Given the description of an element on the screen output the (x, y) to click on. 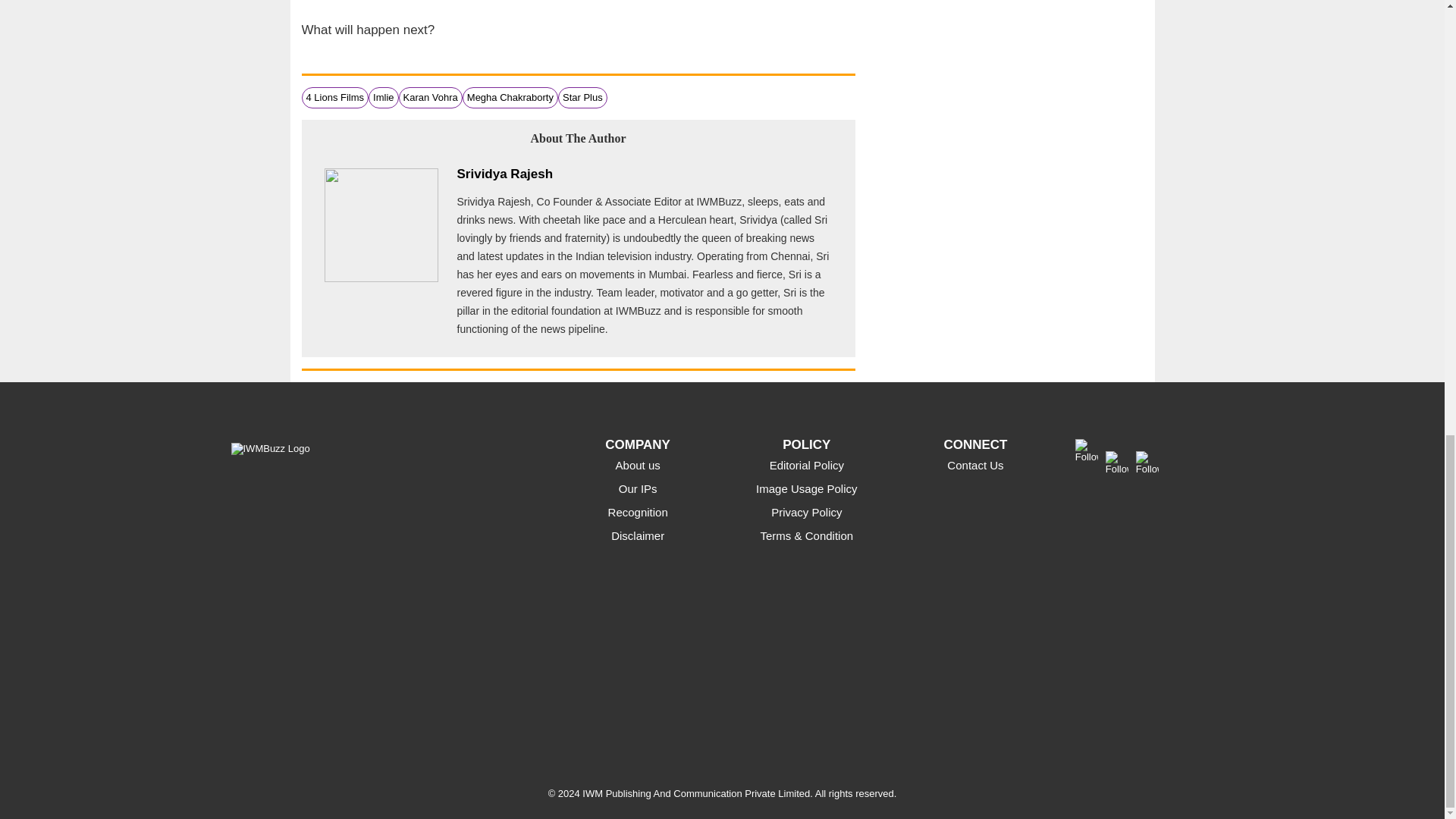
Imlie (382, 97)
Star Plus (582, 97)
Karan Vohra (430, 97)
Megha Chakraborty (510, 97)
4 Lions Films (335, 97)
Srividya Rajesh (505, 173)
